Given the description of an element on the screen output the (x, y) to click on. 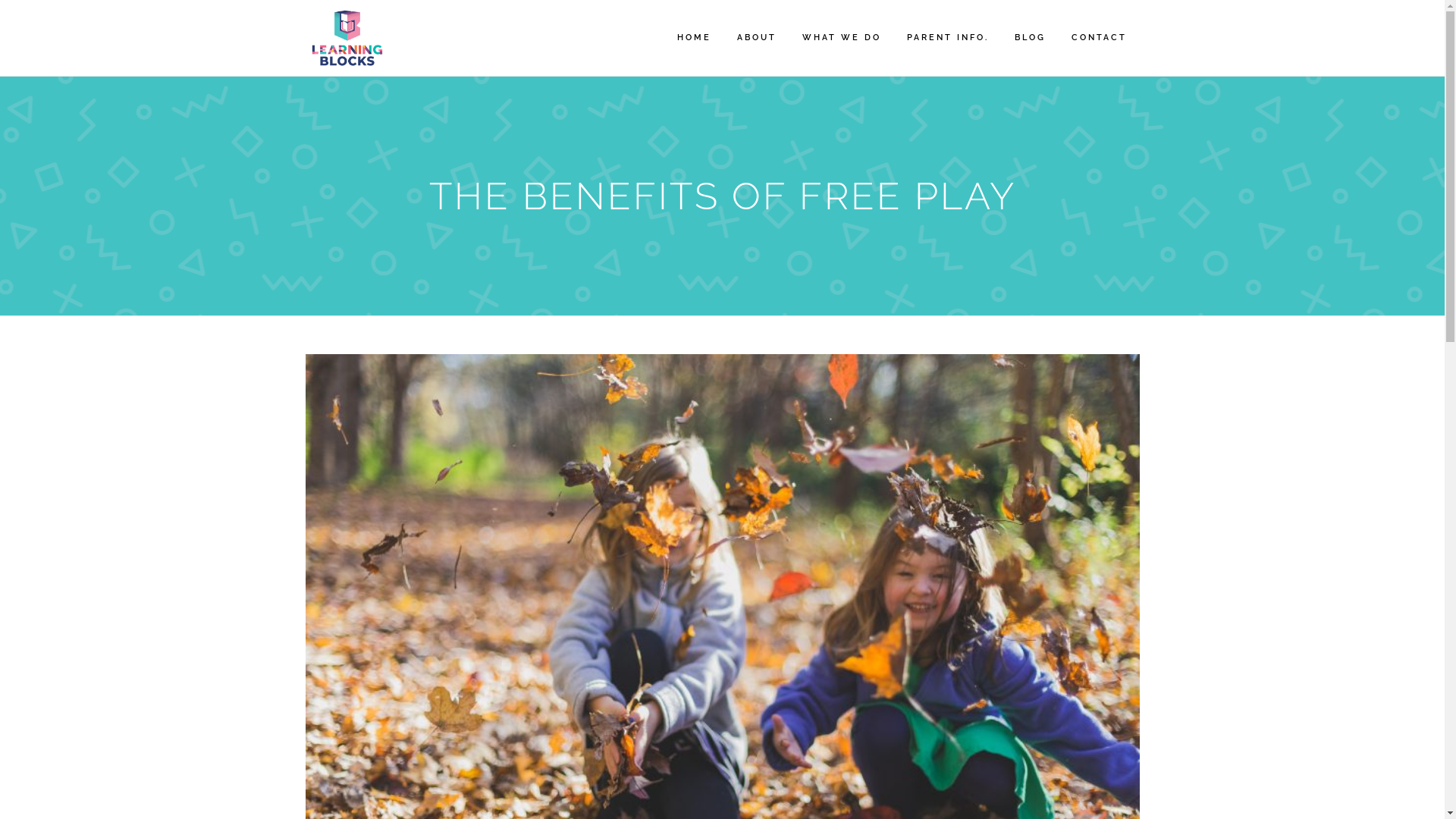
HOME Element type: text (694, 37)
ABOUT Element type: text (755, 37)
BLOG Element type: text (1029, 37)
WHAT WE DO Element type: text (840, 37)
PARENT INFO. Element type: text (947, 37)
CONTACT Element type: text (1098, 37)
